Given the description of an element on the screen output the (x, y) to click on. 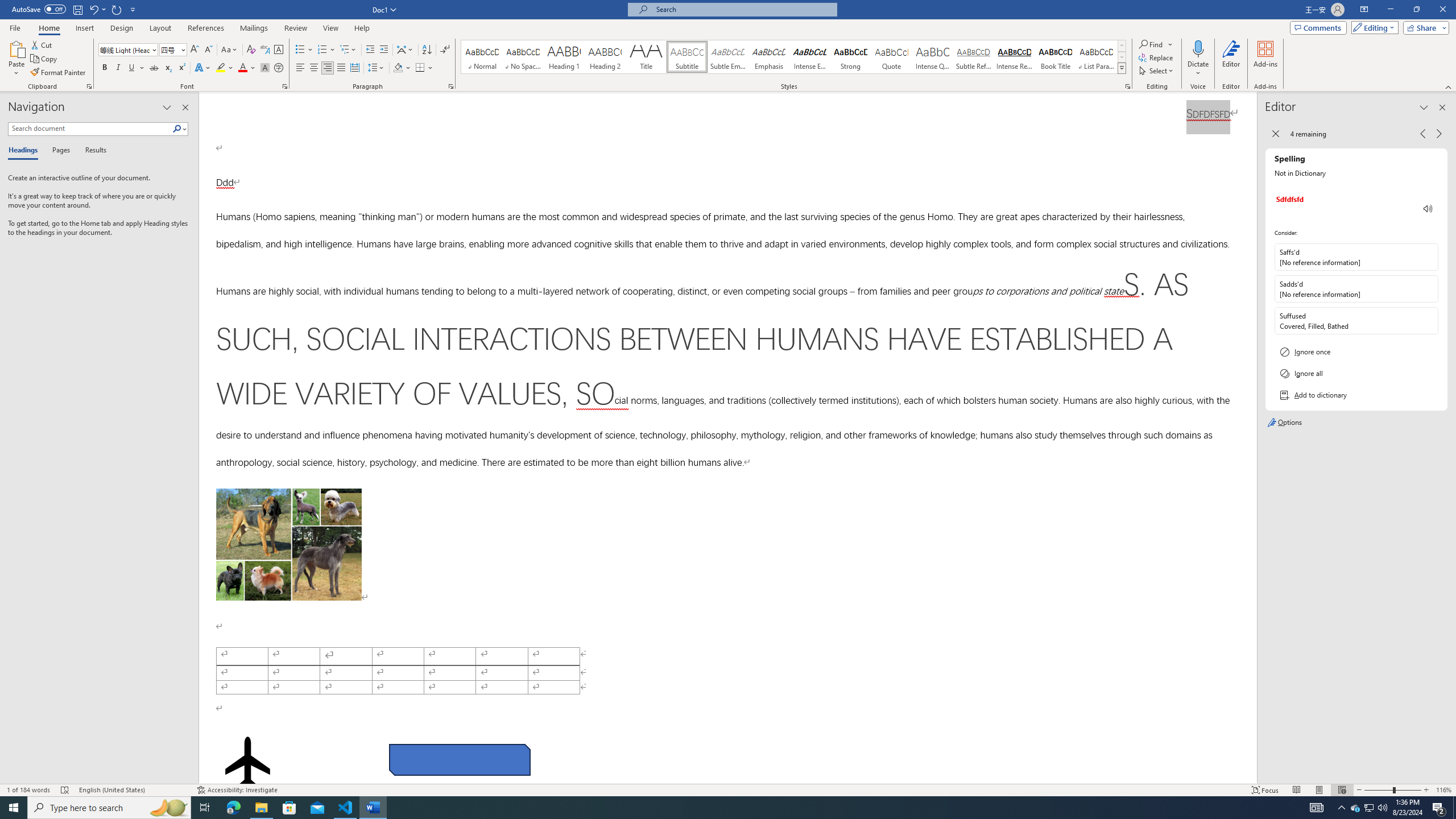
Bold (104, 67)
Next Issue, 4 remaining (1439, 133)
Airplane with solid fill (247, 762)
Search document (89, 128)
Book Title (1055, 56)
More options for Suffused (1428, 320)
Ignore once (1356, 351)
Design (122, 28)
Options (1356, 422)
Character Border (278, 49)
Rectangle: Diagonal Corners Snipped 2 (458, 759)
